Given the description of an element on the screen output the (x, y) to click on. 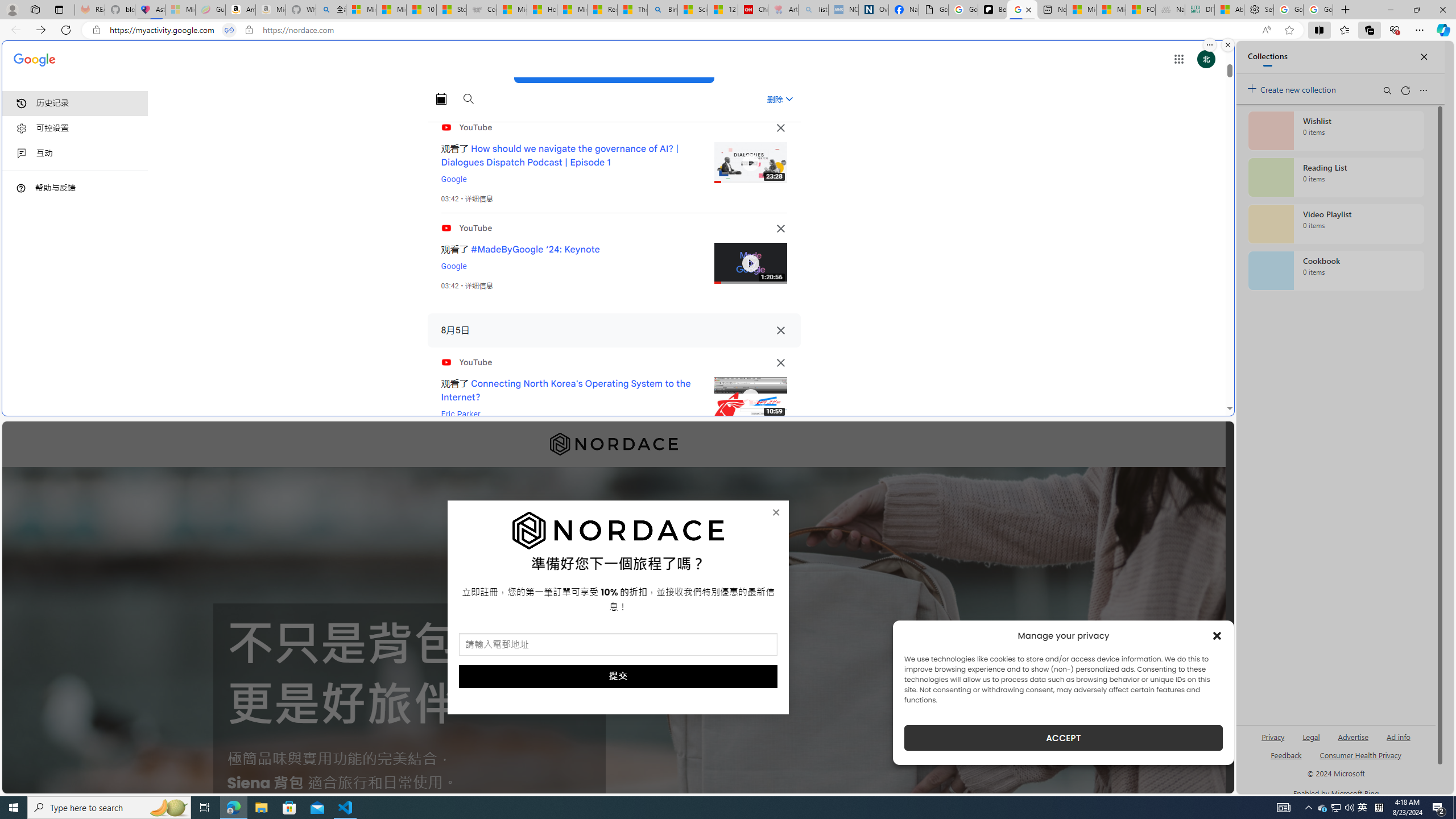
Eric Parker (460, 414)
FOX News - MSN (1140, 9)
Class: IVR0f NMm5M (750, 397)
